Given the description of an element on the screen output the (x, y) to click on. 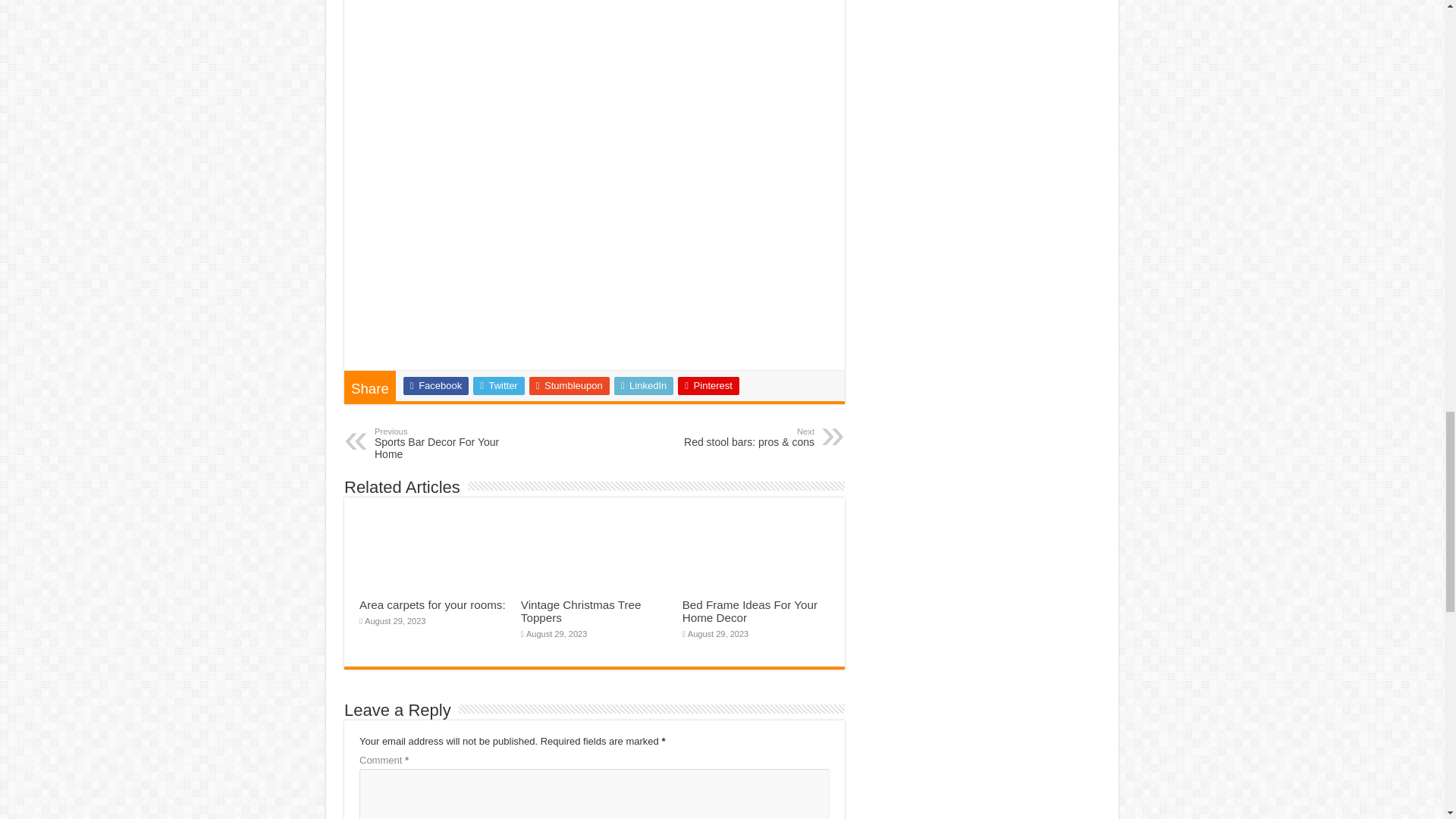
Area carpets for your rooms: (432, 604)
LinkedIn (644, 385)
Pinterest (708, 385)
Vintage Christmas Tree Toppers (581, 611)
Facebook (451, 443)
Stumbleupon (435, 385)
Twitter (569, 385)
